Given the description of an element on the screen output the (x, y) to click on. 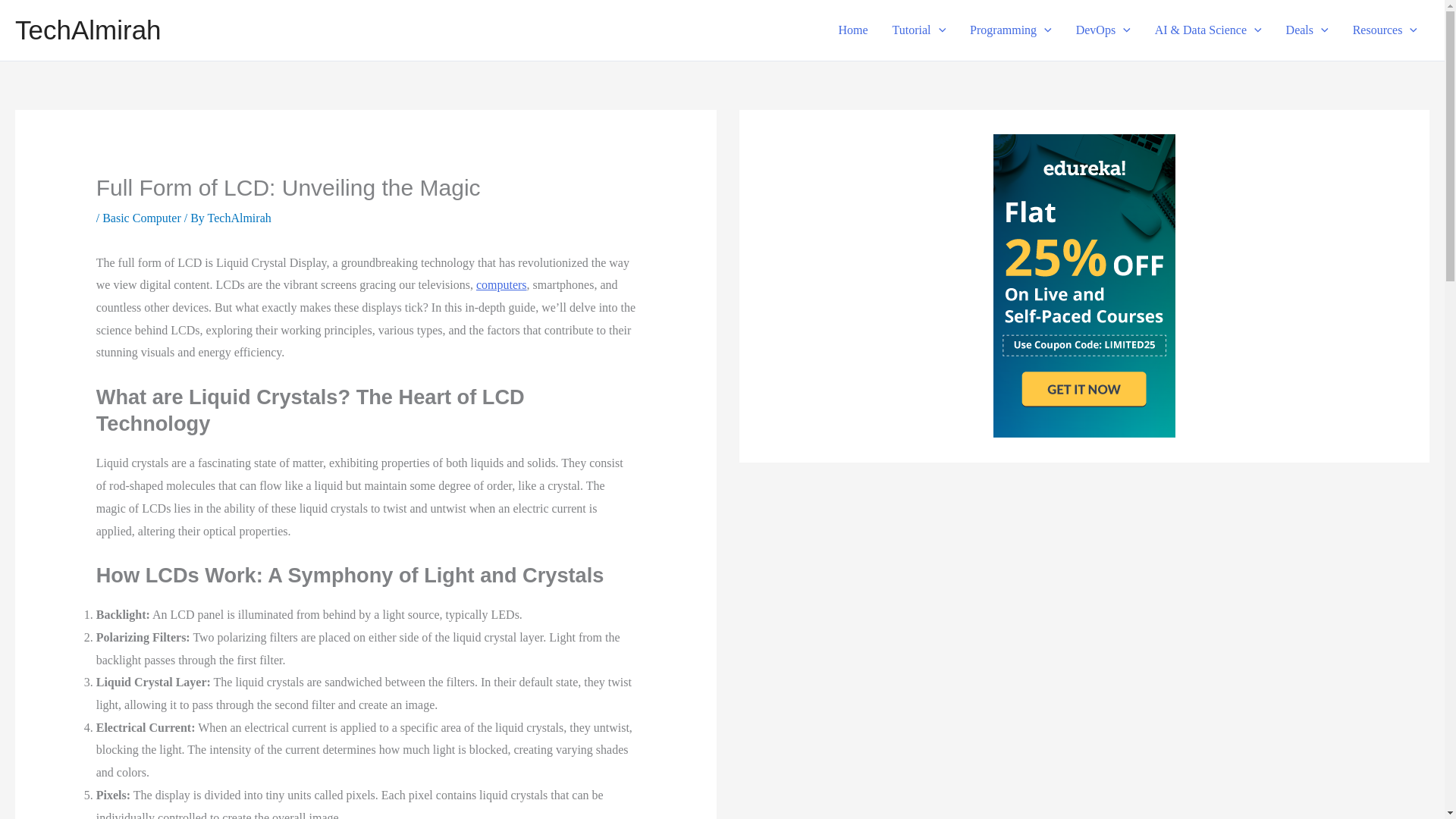
Tutorial (919, 30)
View all posts by TechAlmirah (239, 217)
TechAlmirah (87, 30)
DevOps (1103, 30)
Programming (1011, 30)
Deals (1307, 30)
